Given the description of an element on the screen output the (x, y) to click on. 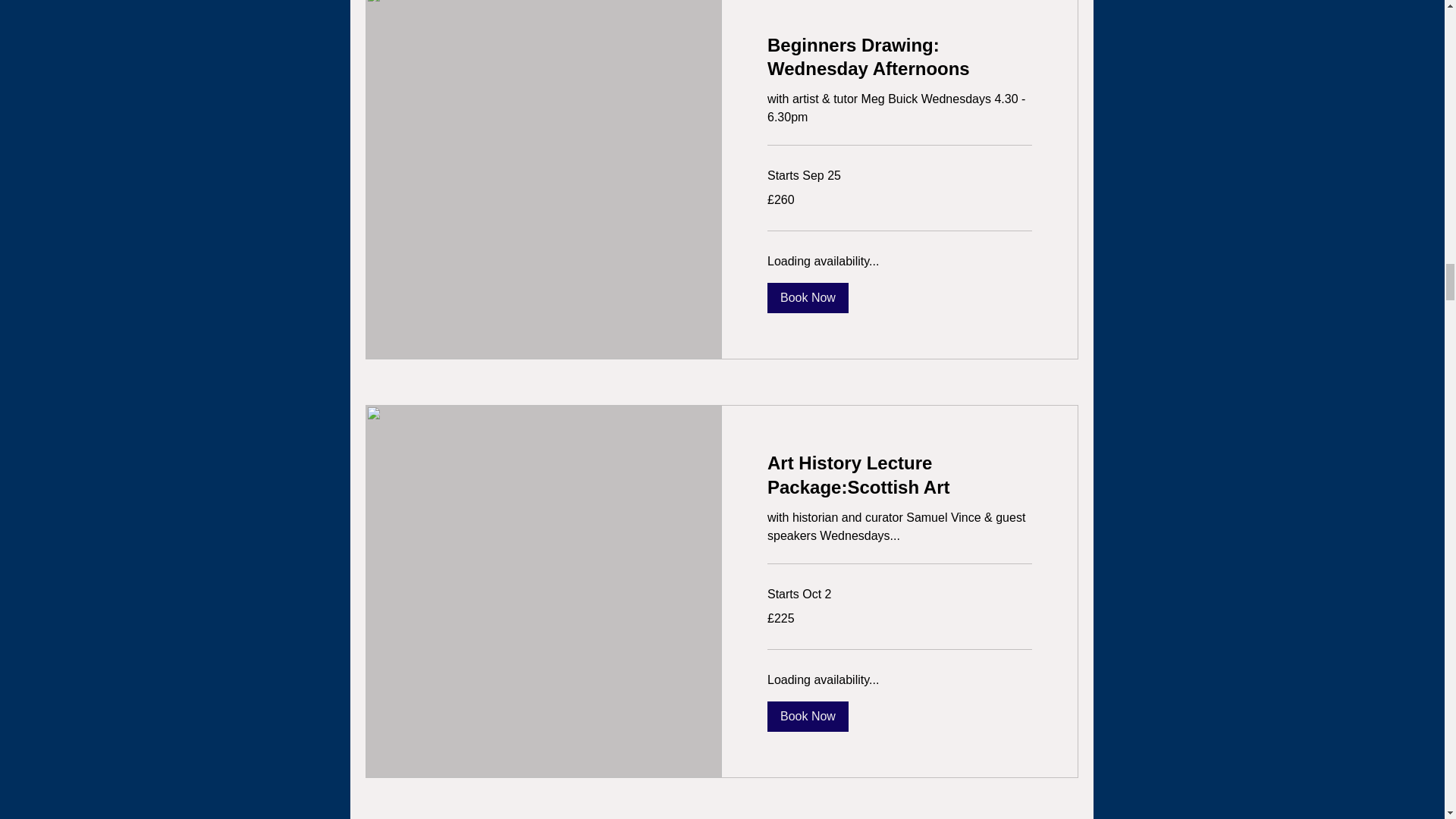
Book Now (807, 297)
Art History Lecture Package:Scottish Art (899, 475)
Book Now (807, 716)
Beginners Drawing: Wednesday Afternoons (899, 56)
